Given the description of an element on the screen output the (x, y) to click on. 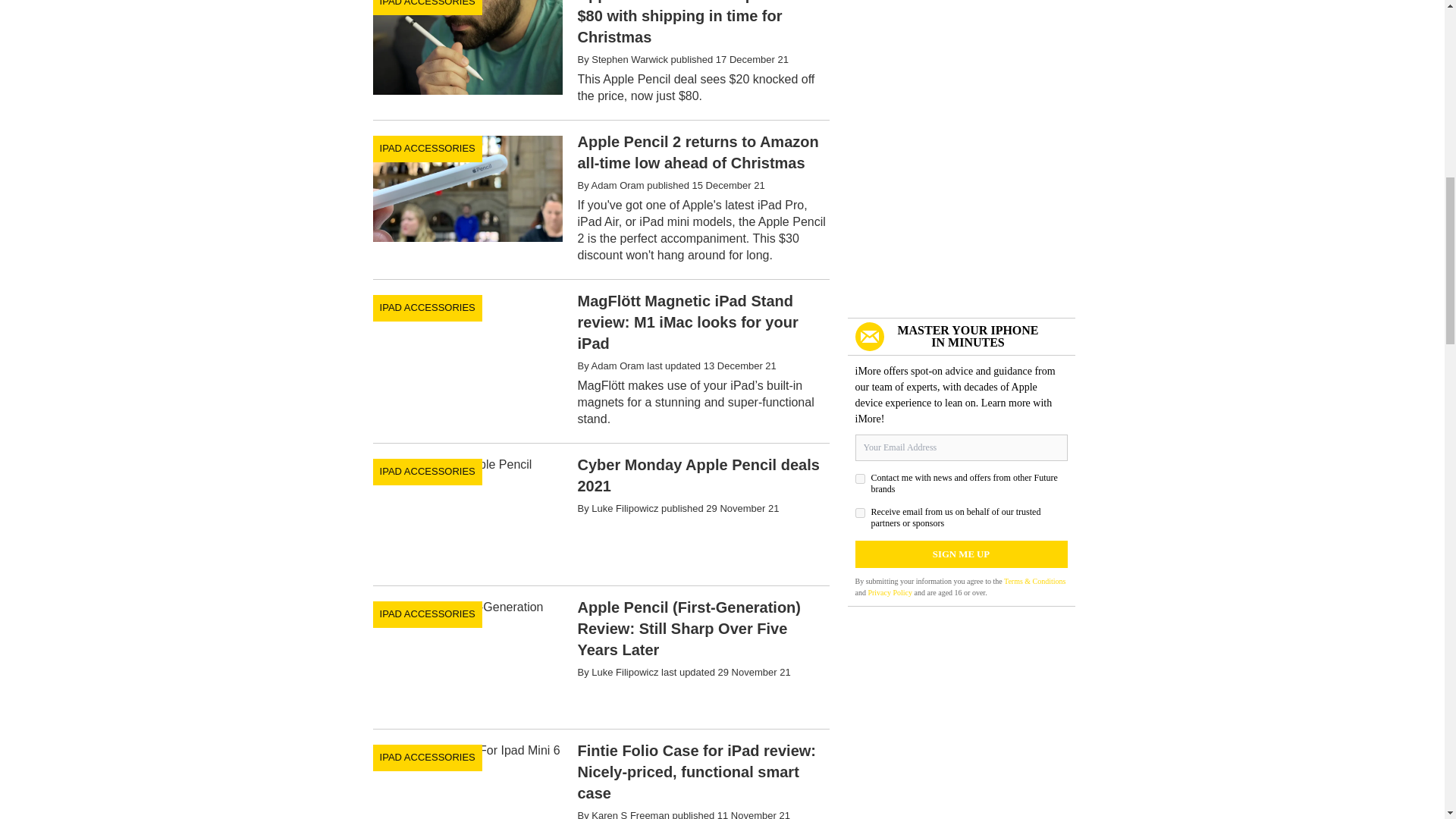
on (860, 512)
Sign me up (961, 554)
on (860, 479)
